Given the description of an element on the screen output the (x, y) to click on. 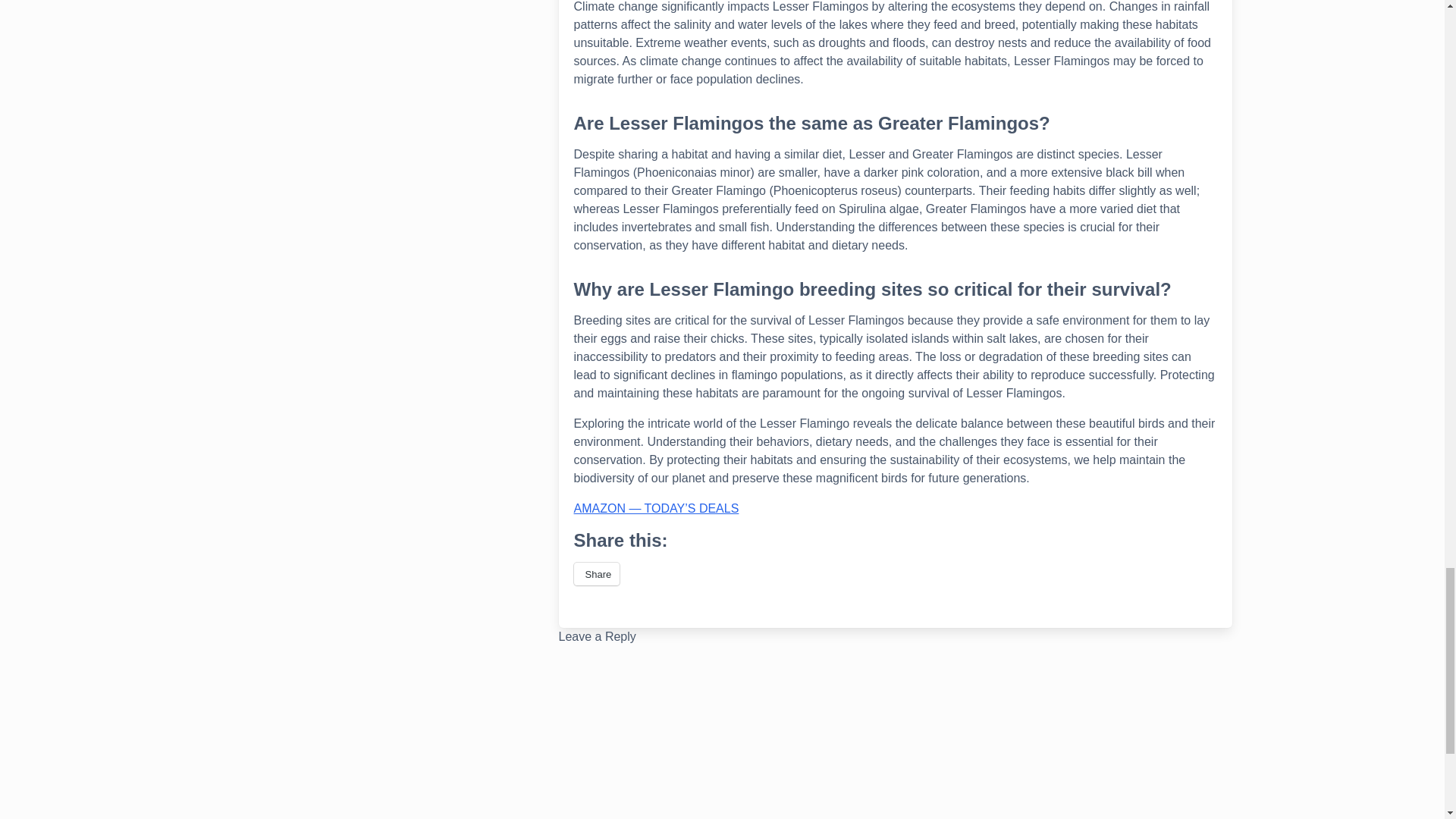
Share (596, 573)
